Given the description of an element on the screen output the (x, y) to click on. 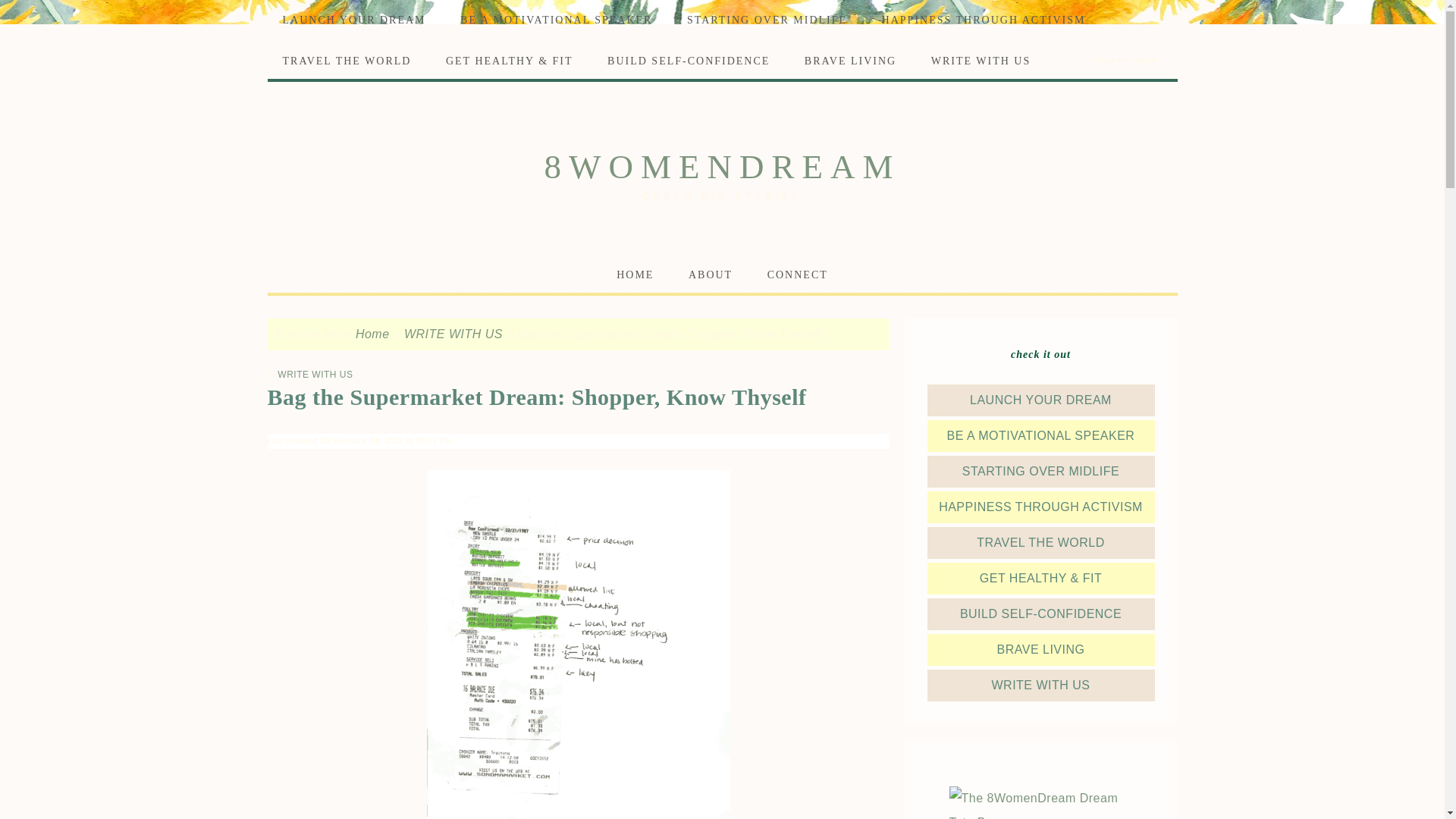
ABOUT (710, 274)
HOME (634, 274)
BRAVE LIVING (850, 60)
BUILD SELF-CONFIDENCE (1040, 613)
TRAVEL THE WORLD (1040, 542)
TRAVEL THE WORLD (346, 60)
WRITE WITH US (453, 333)
BE A MOTIVATIONAL SPEAKER (555, 20)
STARTING OVER MIDLIFE (766, 20)
